Given the description of an element on the screen output the (x, y) to click on. 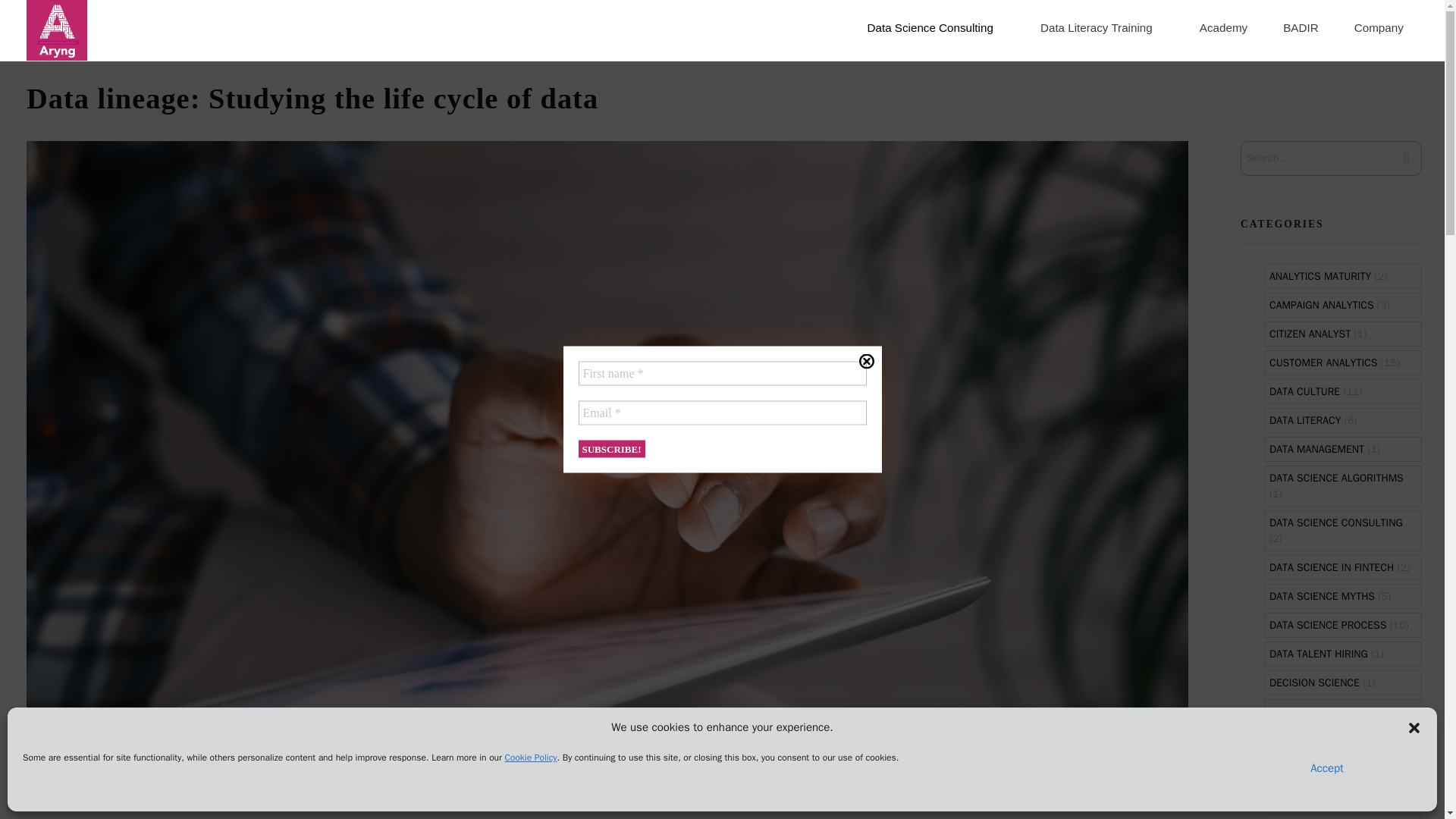
Email (722, 412)
Cookie Policy (531, 757)
Data Literacy Training (1105, 30)
Accept (1326, 767)
Academy (1226, 30)
First name (722, 372)
BADIR (1303, 30)
Company (1378, 30)
Data Science Consulting (946, 30)
Subscribe! (611, 448)
